Given the description of an element on the screen output the (x, y) to click on. 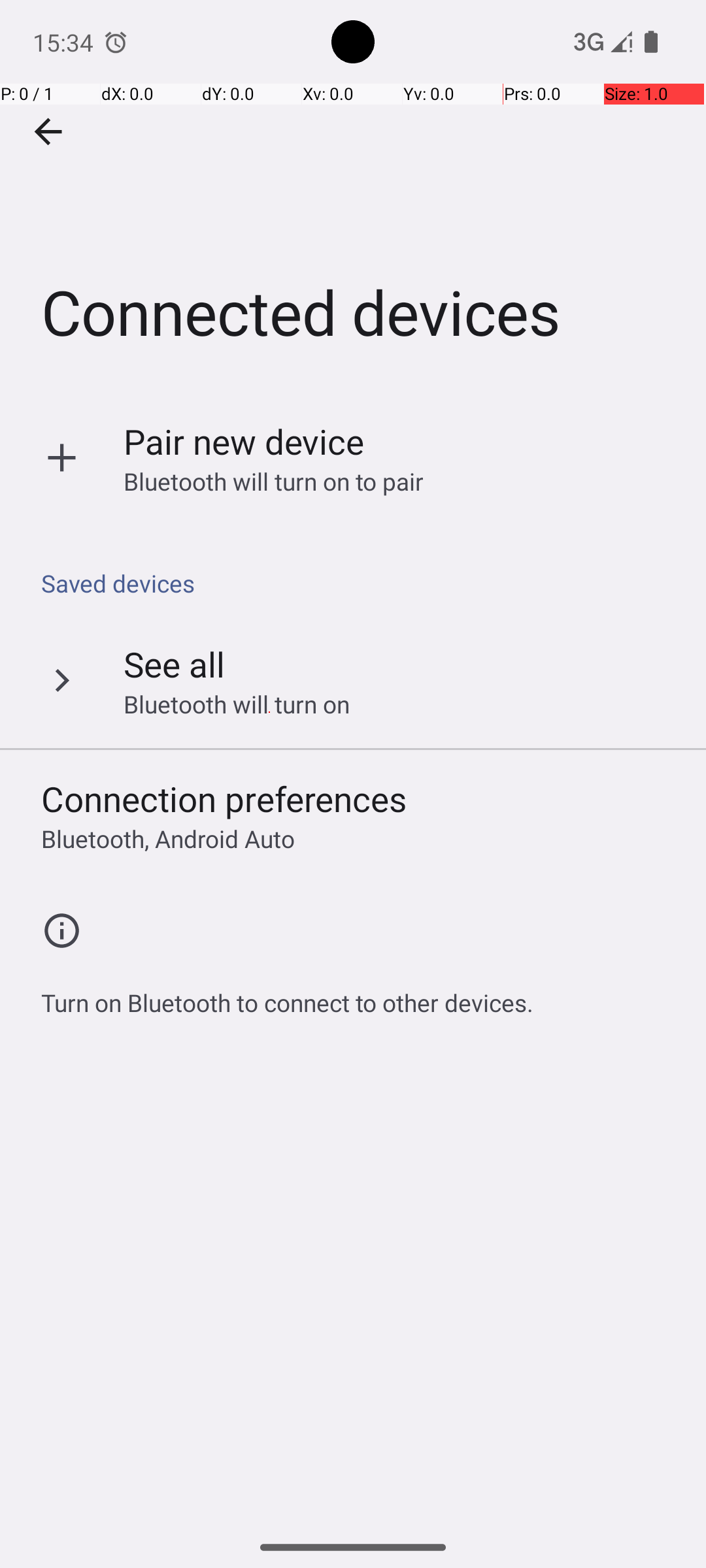
Bluetooth will turn on to pair Element type: android.widget.TextView (273, 480)
Bluetooth will turn on Element type: android.widget.TextView (236, 703)
Turn on Bluetooth to connect to other devices. Element type: android.widget.TextView (287, 995)
